Given the description of an element on the screen output the (x, y) to click on. 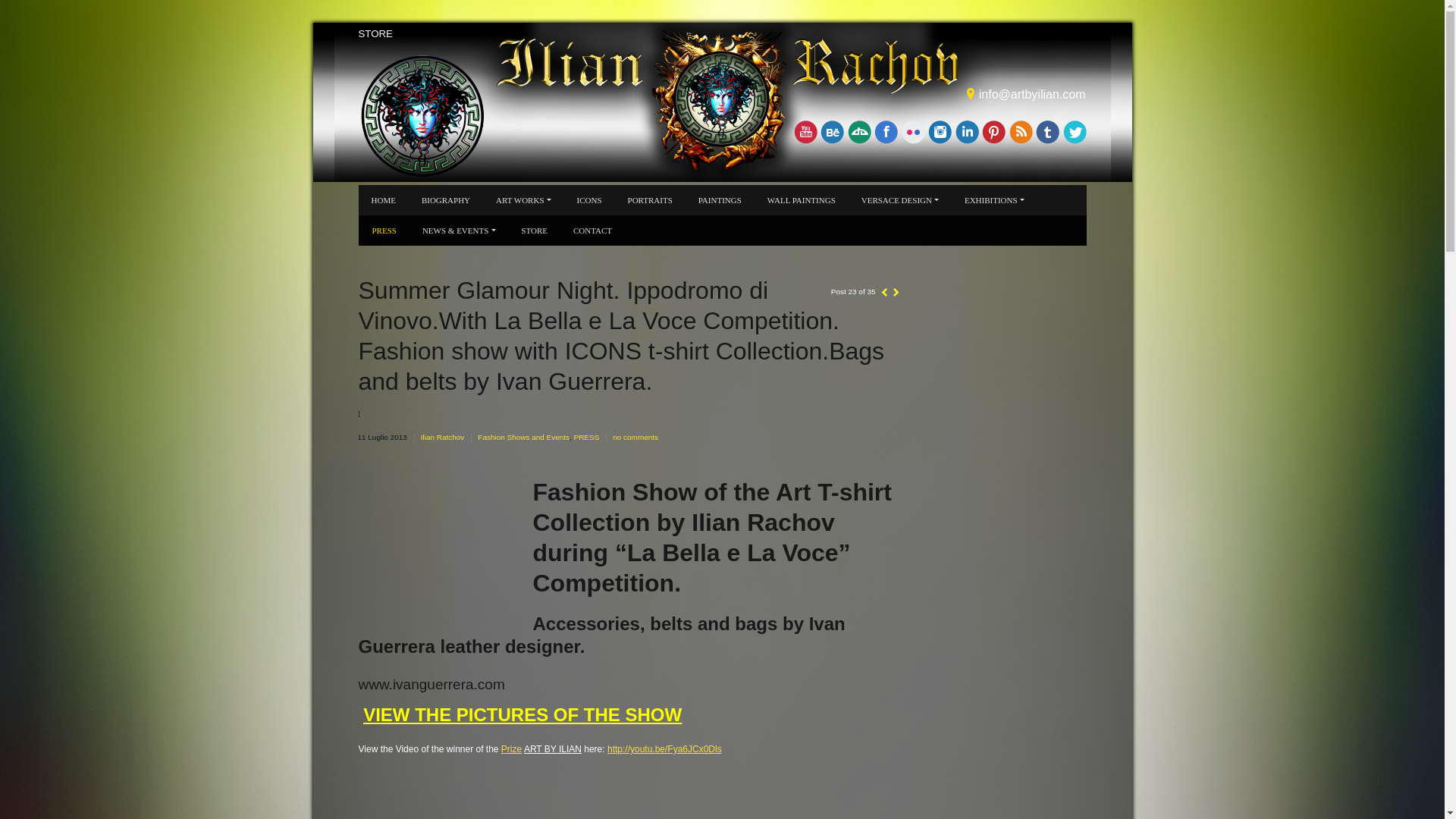
HOME (382, 200)
ART WORKS (522, 200)
PAINTINGS (719, 200)
STORE (374, 33)
PORTRAITS (649, 200)
BIOGRAPHY (445, 200)
ICONS (589, 200)
